Given the description of an element on the screen output the (x, y) to click on. 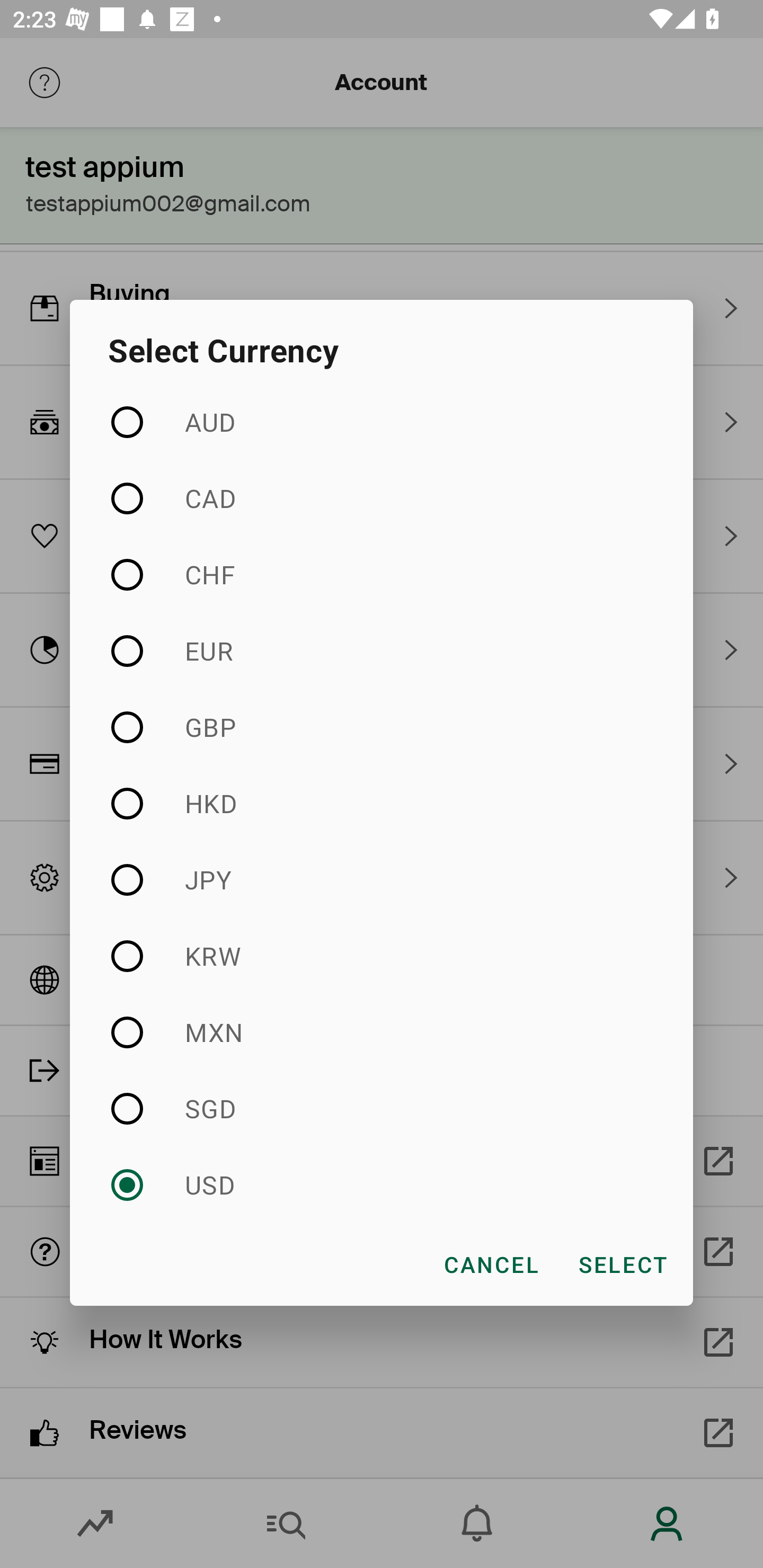
AUD (381, 422)
CAD (381, 498)
CHF (381, 574)
EUR (381, 651)
GBP (381, 727)
HKD (381, 803)
JPY (381, 879)
KRW (381, 955)
MXN (381, 1032)
SGD (381, 1108)
USD (381, 1184)
CANCEL (490, 1264)
SELECT (622, 1264)
